Given the description of an element on the screen output the (x, y) to click on. 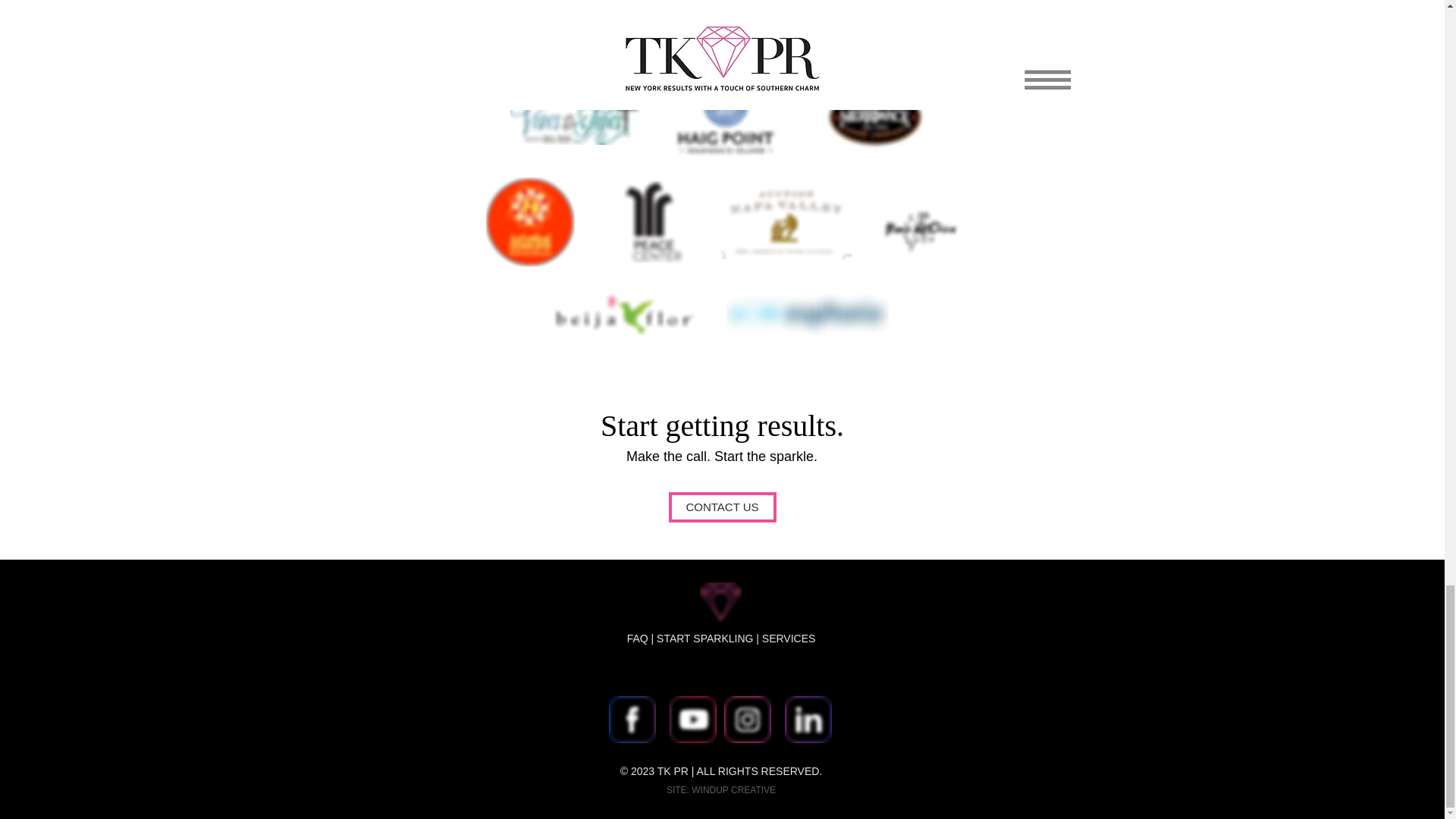
SITE: WINDUP CREATIVE (721, 789)
FAQ (637, 638)
CONTACT US (722, 507)
SERVICES (788, 638)
START SPARKLING (704, 638)
